Given the description of an element on the screen output the (x, y) to click on. 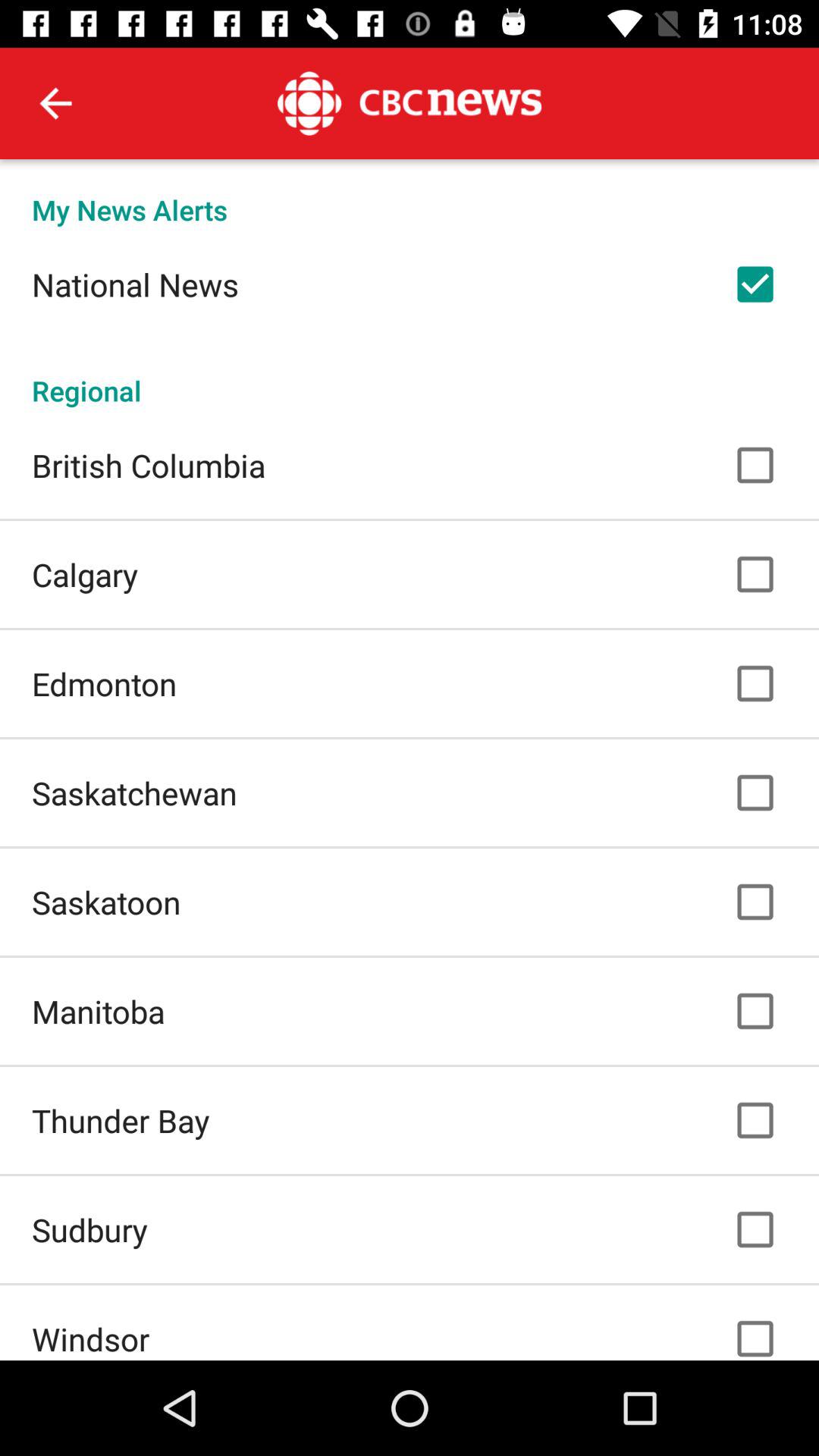
flip to the saskatoon item (105, 901)
